Given the description of an element on the screen output the (x, y) to click on. 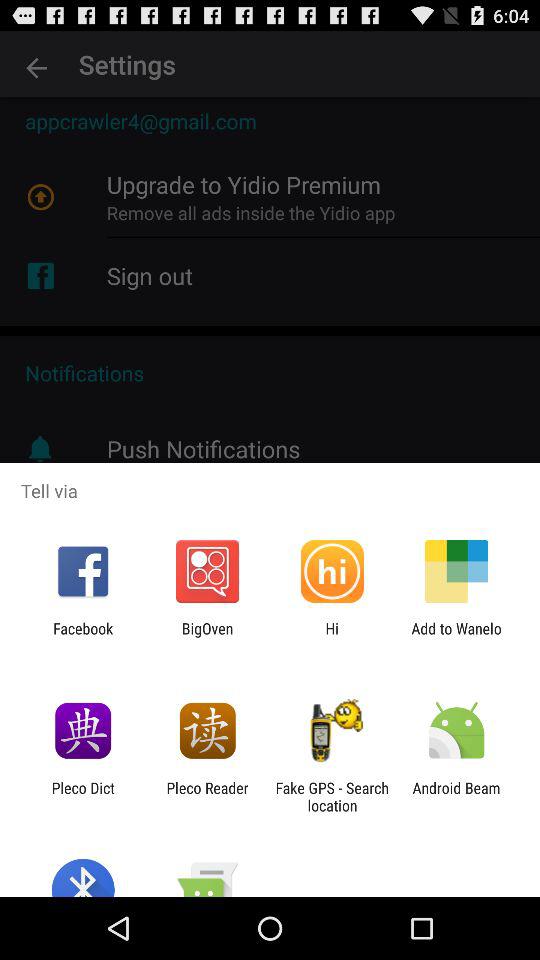
tap the item next to hi app (456, 637)
